Given the description of an element on the screen output the (x, y) to click on. 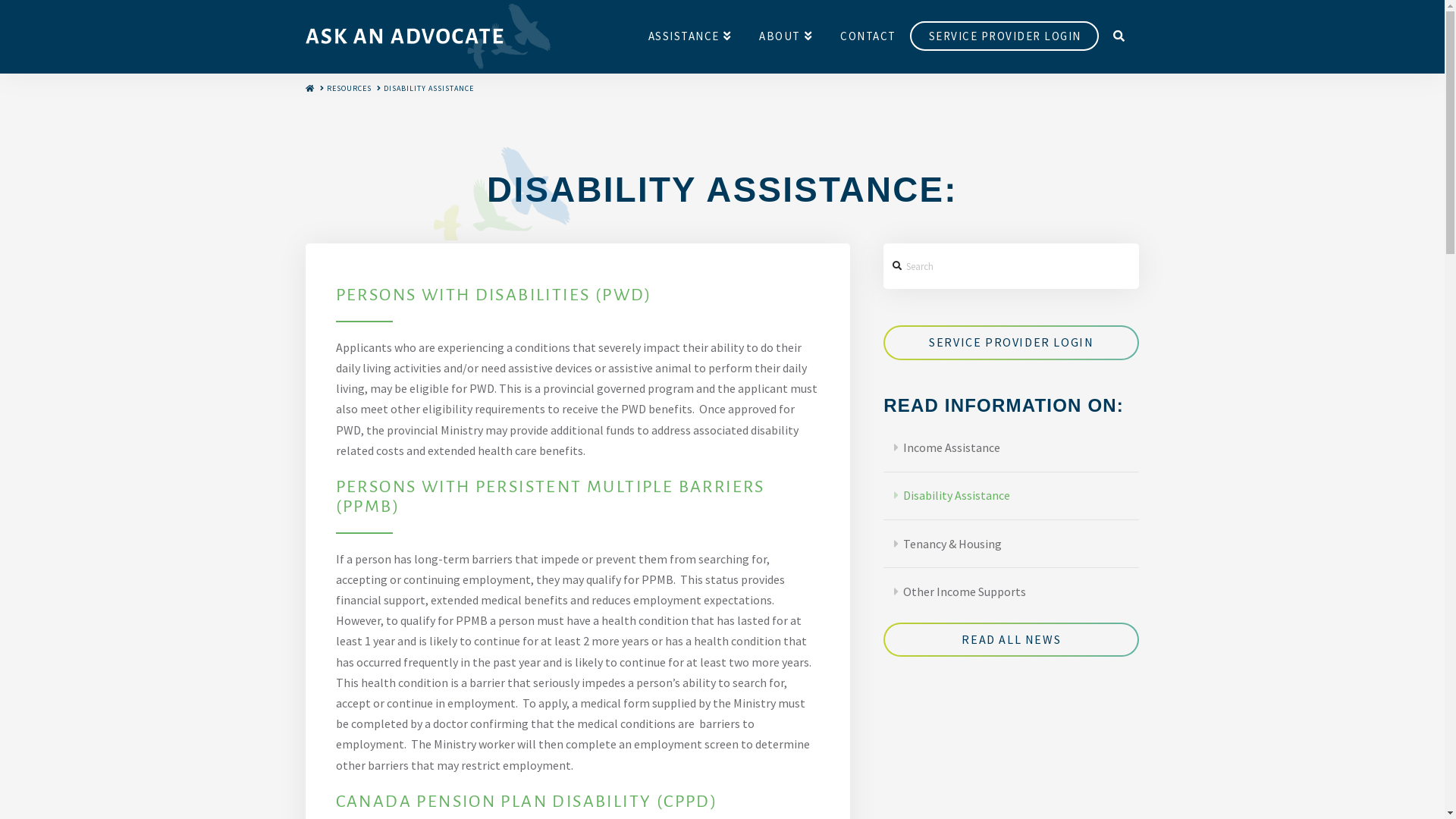
Disability Assistance Element type: text (1011, 495)
SERVICE PROVIDER LOGIN Element type: text (1004, 35)
HOME Element type: text (308, 87)
Other Income Supports Element type: text (1011, 592)
ASSISTANCE Element type: text (689, 36)
RESOURCES Element type: text (348, 88)
Income Assistance Element type: text (1011, 448)
READ ALL NEWS Element type: text (1011, 639)
CONTACT Element type: text (867, 36)
Tenancy & Housing Element type: text (1011, 543)
ABOUT Element type: text (784, 36)
DISABILITY ASSISTANCE Element type: text (428, 88)
SERVICE PROVIDER LOGIN Element type: text (1011, 342)
